Given the description of an element on the screen output the (x, y) to click on. 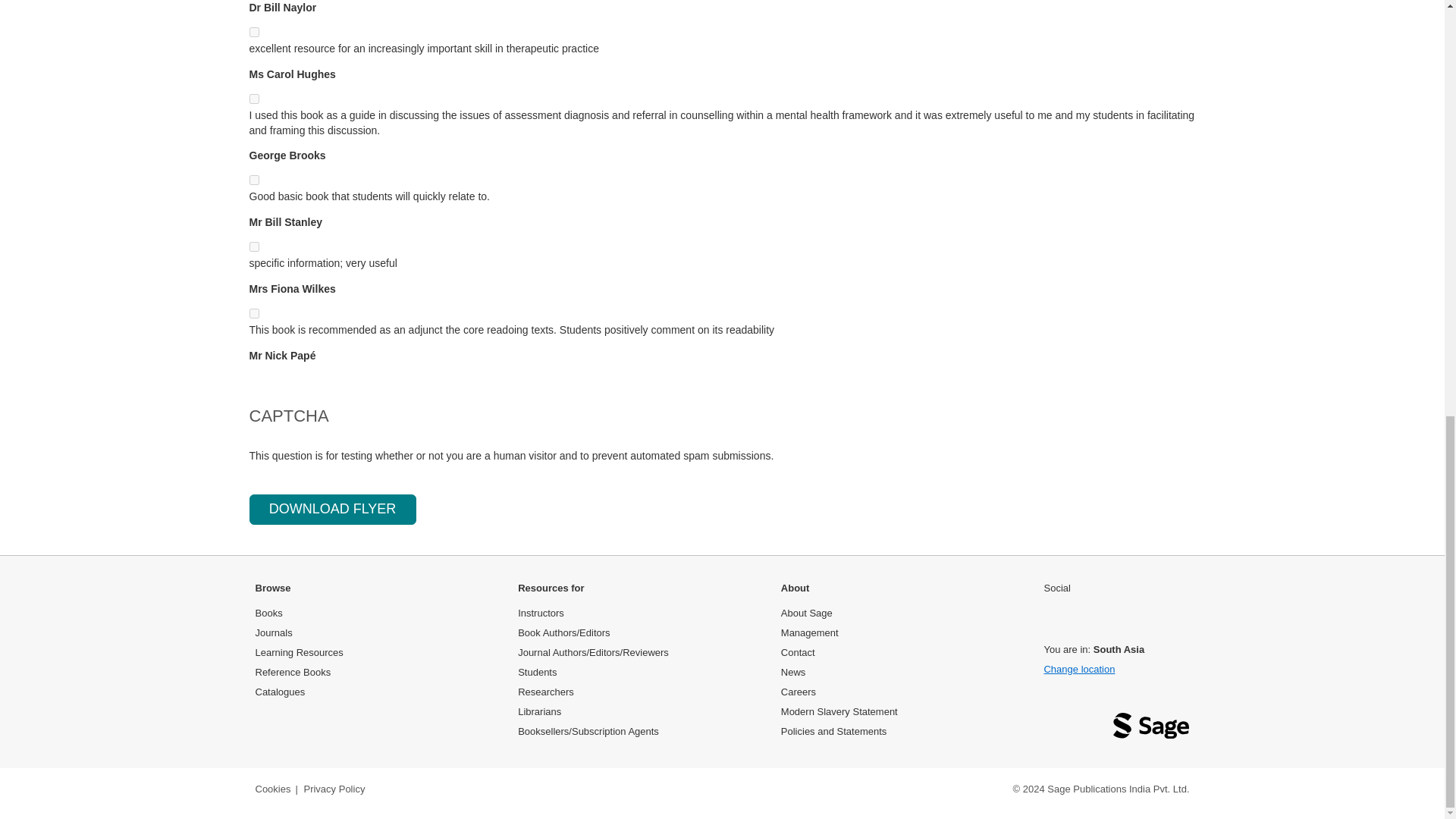
120476 (253, 246)
Download flyer (331, 509)
119362 (253, 99)
122035 (253, 180)
122922 (253, 31)
119524 (253, 313)
